Given the description of an element on the screen output the (x, y) to click on. 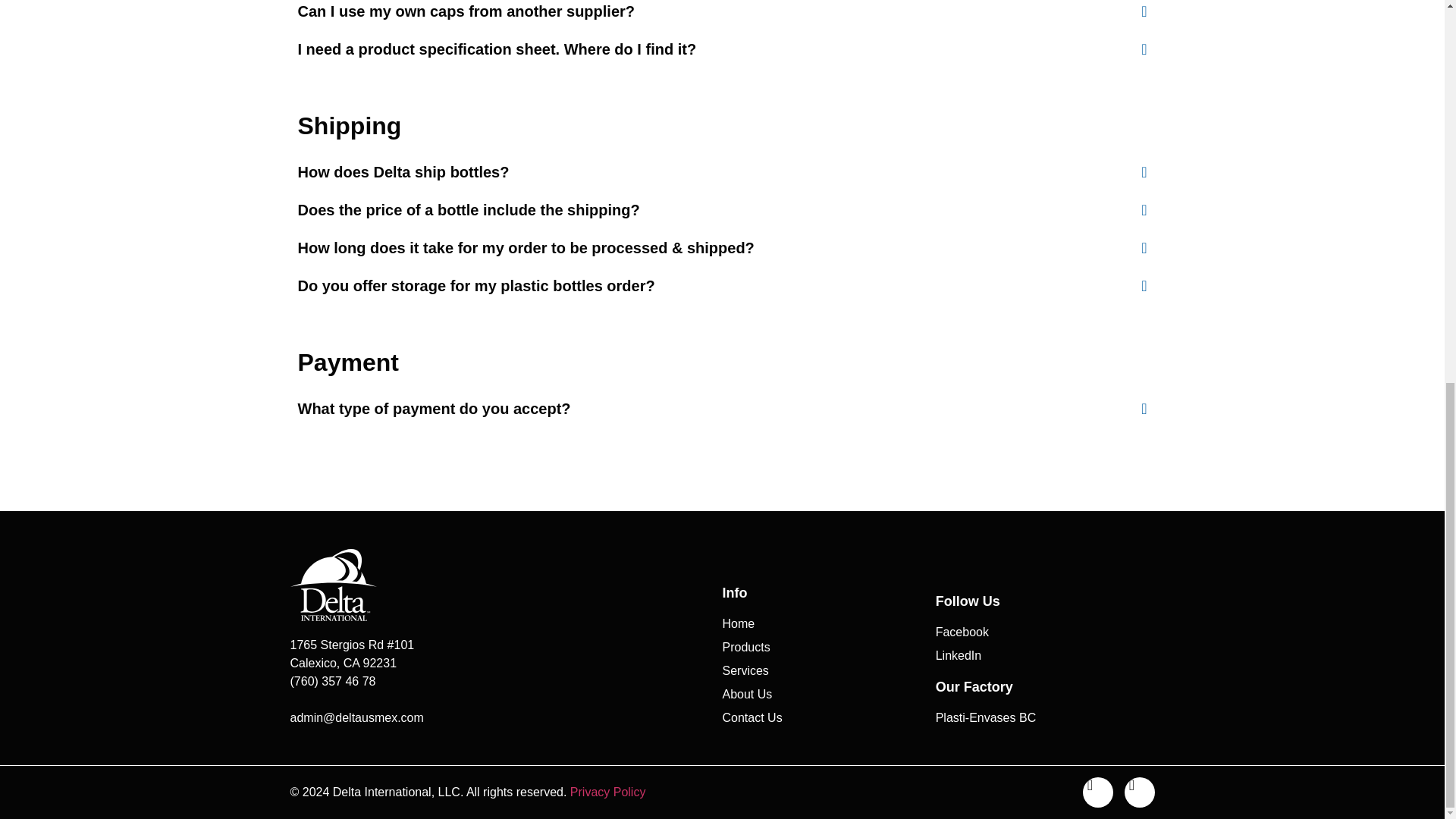
How does Delta ship bottles? (402, 171)
Does the price of a bottle include the shipping? (468, 209)
Home (828, 624)
Can I use my own caps from another supplier? (465, 11)
Do you offer storage for my plastic bottles order? (475, 285)
About Us (828, 694)
I need a product specification sheet. Where do I find it? (496, 48)
Plasti-Envases BC (1043, 718)
What type of payment do you accept? (433, 408)
Privacy Policy (608, 791)
